Given the description of an element on the screen output the (x, y) to click on. 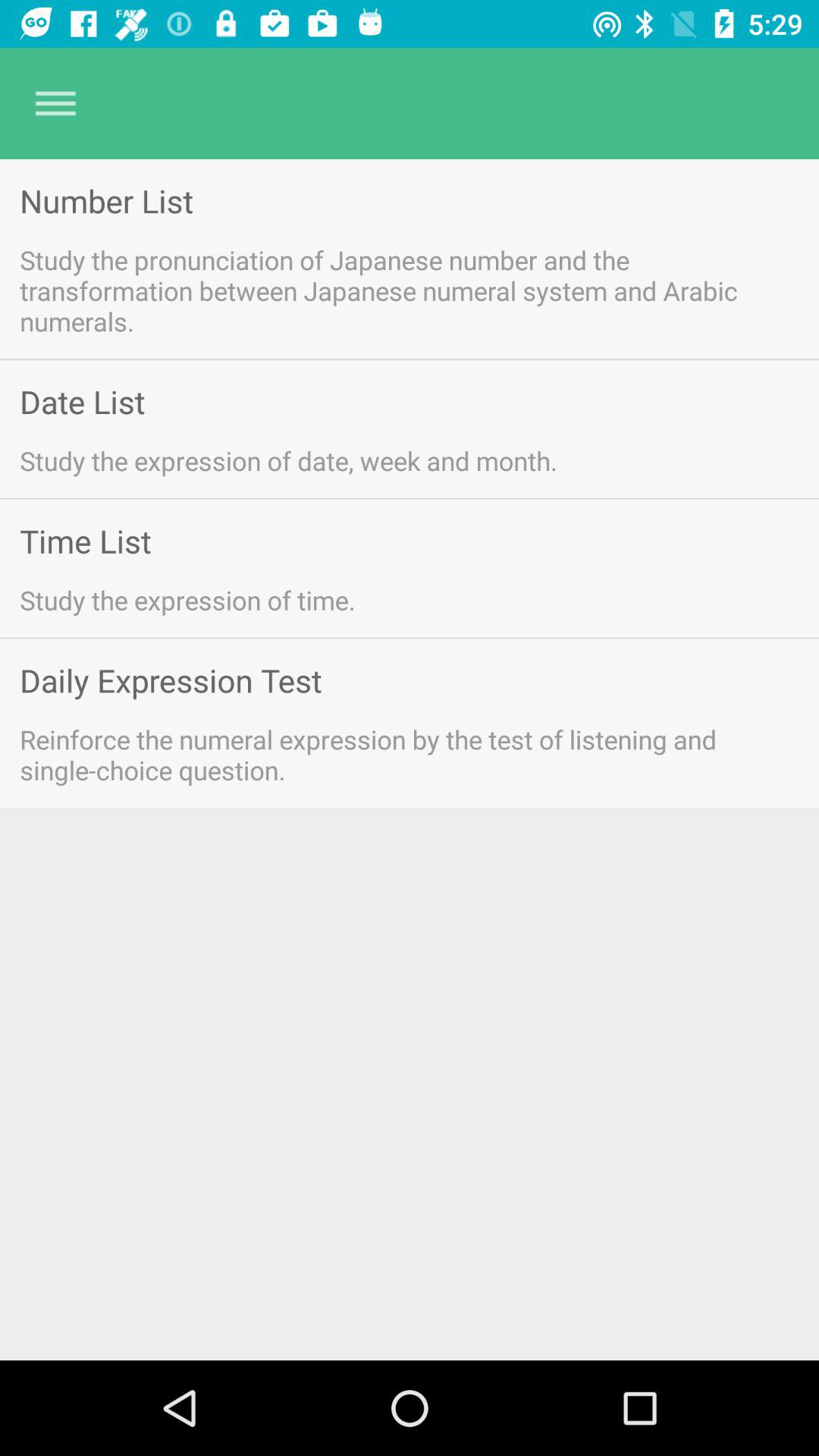
tap date list icon (82, 401)
